Given the description of an element on the screen output the (x, y) to click on. 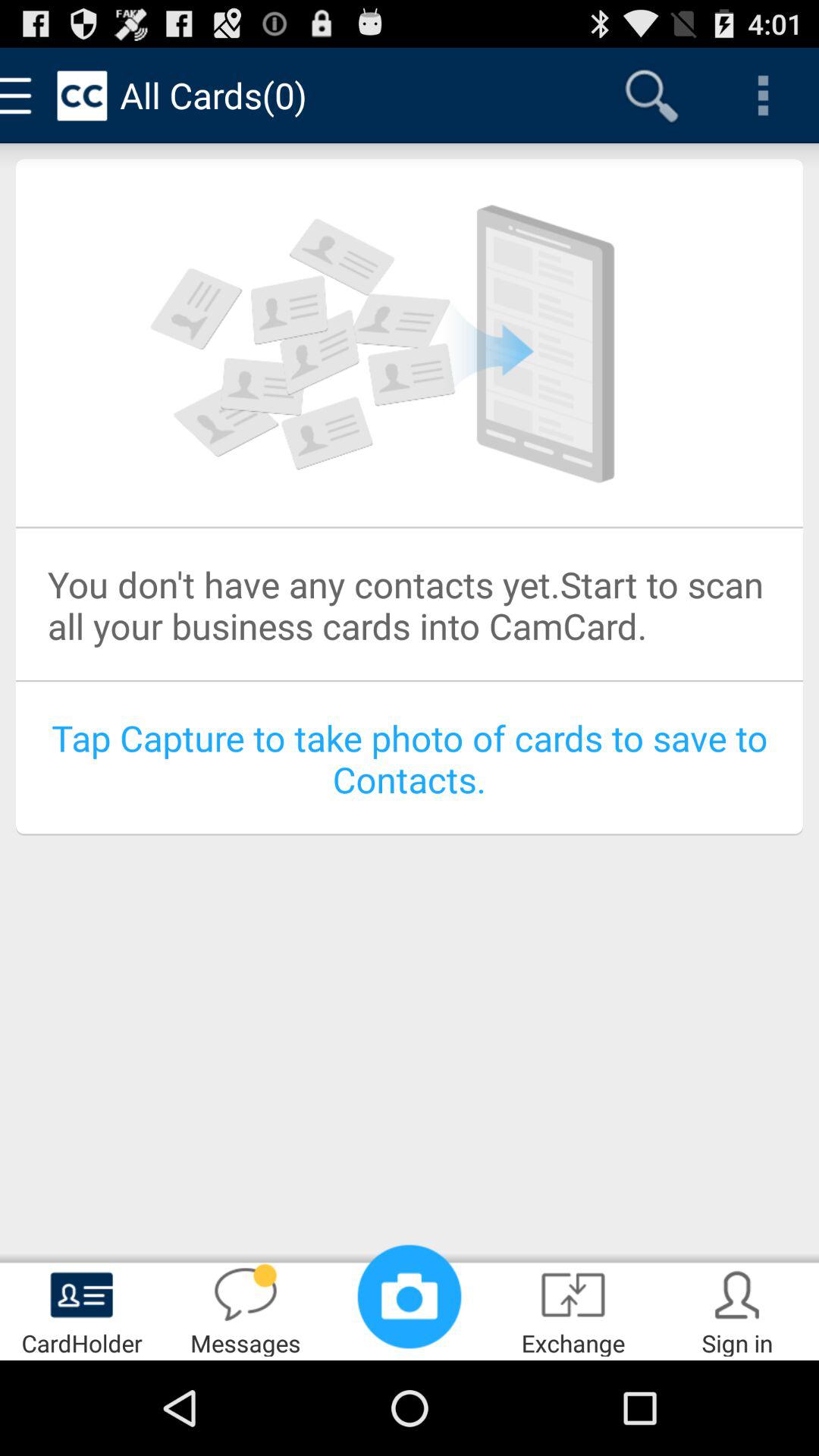
swipe until messages (245, 1309)
